Given the description of an element on the screen output the (x, y) to click on. 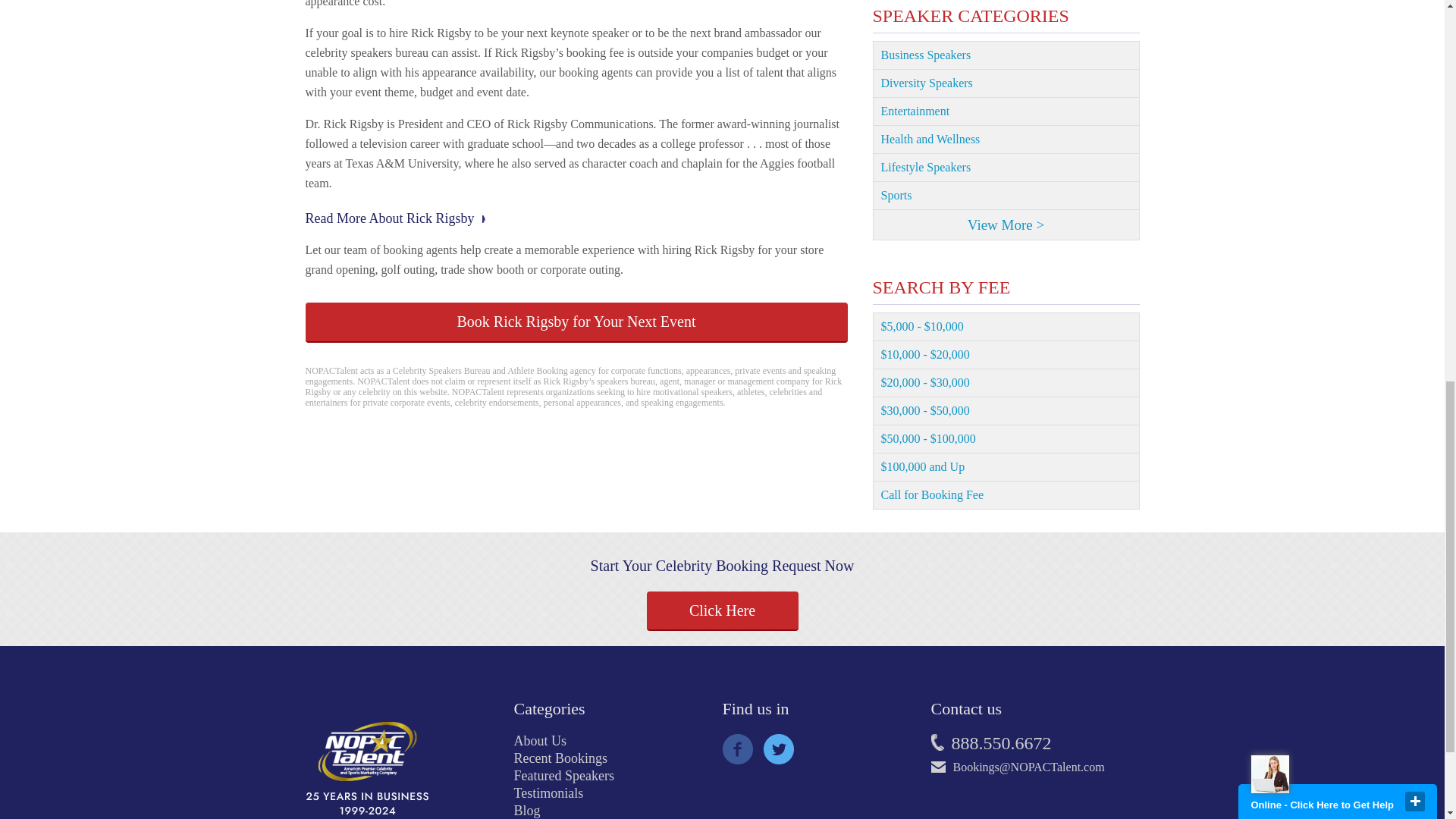
Lifestyle Speakers (1005, 167)
Business Speakers (1005, 54)
Book Rick Rigsby for Your Next Event (575, 322)
Diversity Speakers (1005, 83)
Call for Booking Fee (1005, 495)
Health and Wellness (1005, 139)
Sports (1005, 195)
Entertainment (1005, 111)
